Given the description of an element on the screen output the (x, y) to click on. 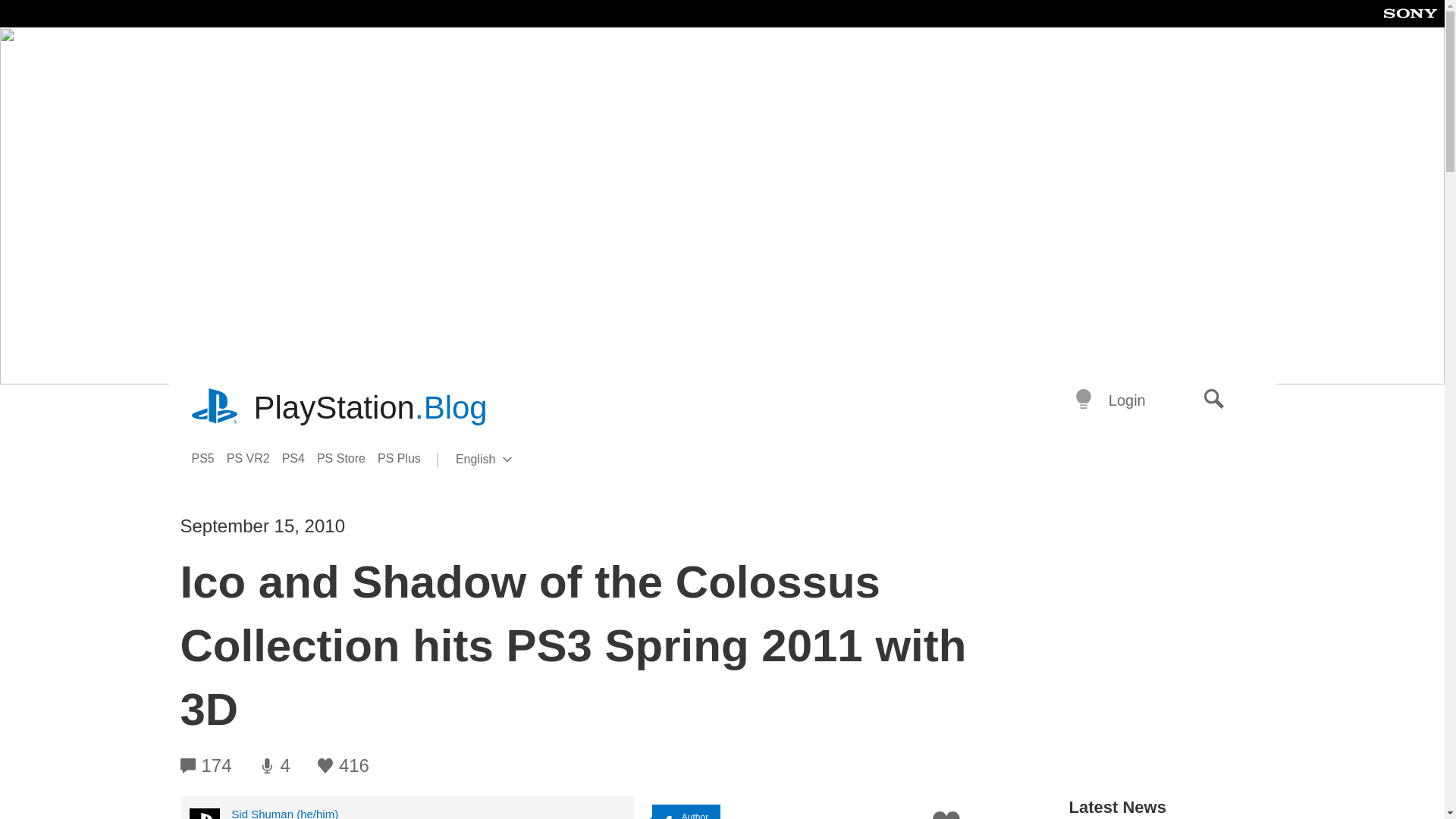
PS4 (299, 458)
playstation.com (215, 408)
PS Store (347, 458)
PlayStation.Blog (369, 407)
Login (1126, 400)
PS Plus (404, 458)
Search (508, 459)
Skip to content (1214, 400)
PS VR2 (207, 458)
